Given the description of an element on the screen output the (x, y) to click on. 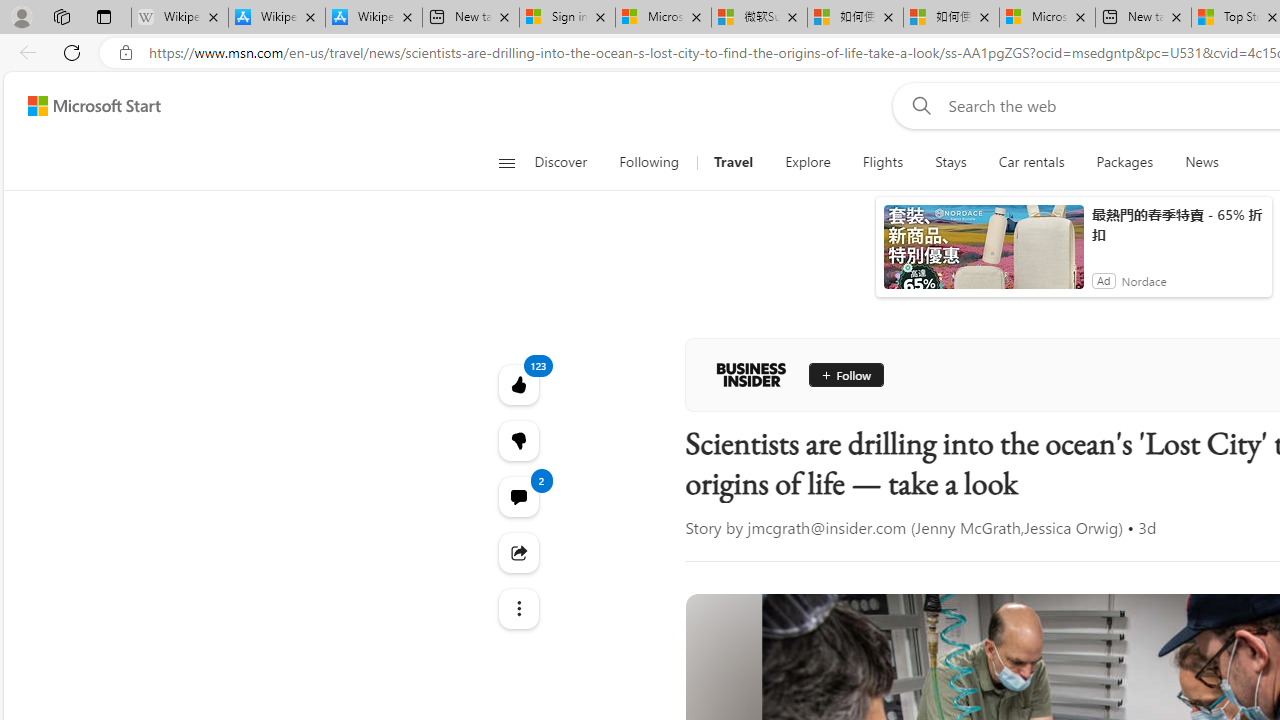
Business Insider (751, 374)
123 (517, 440)
Stays (950, 162)
Explore (808, 162)
